Given the description of an element on the screen output the (x, y) to click on. 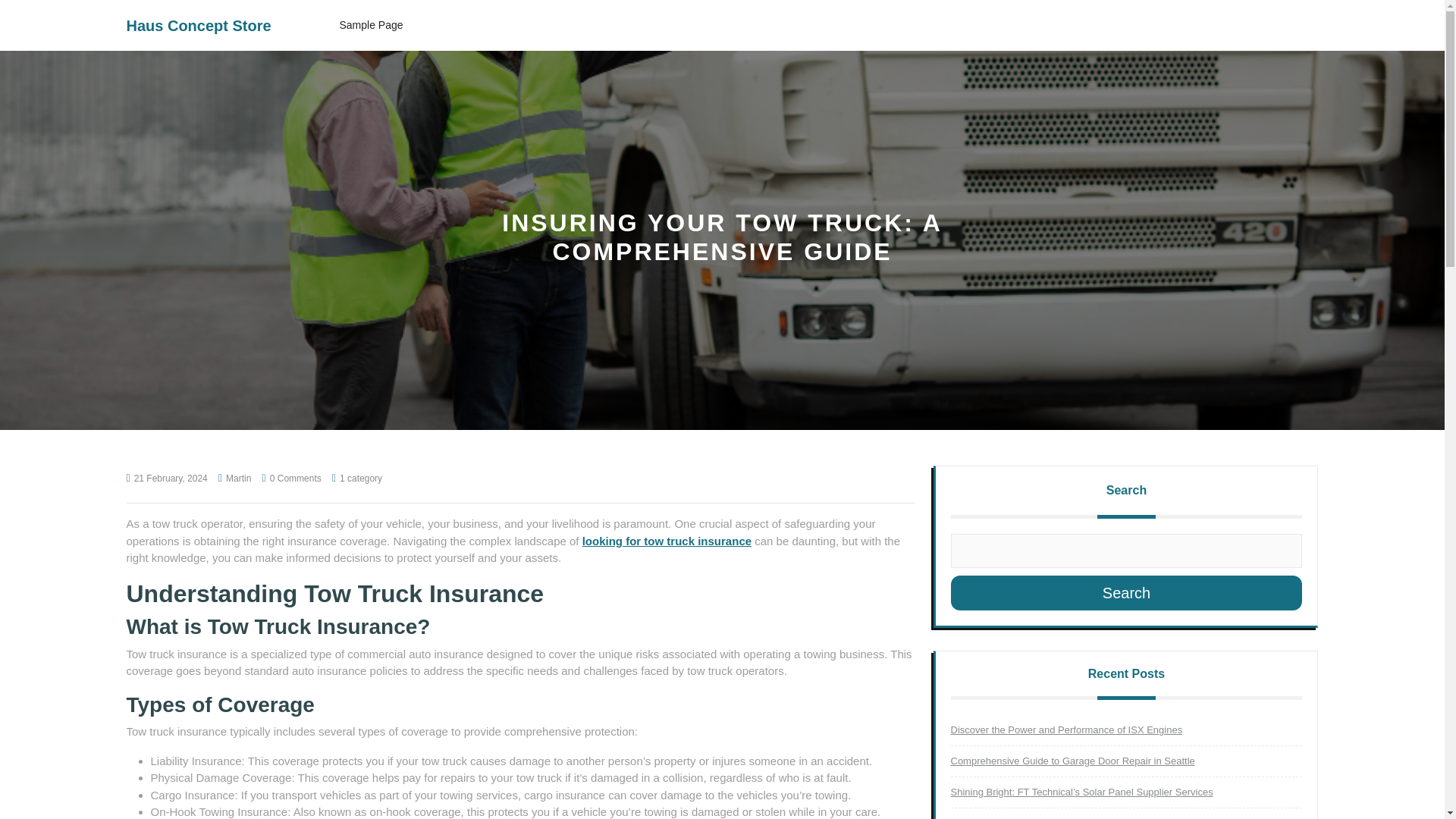
looking for tow truck insurance (666, 540)
Haus Concept Store (197, 24)
Sample Page (371, 25)
Search (1126, 592)
Discover the Power and Performance of ISX Engines (1066, 729)
Comprehensive Guide to Garage Door Repair in Seattle (1072, 760)
